Given the description of an element on the screen output the (x, y) to click on. 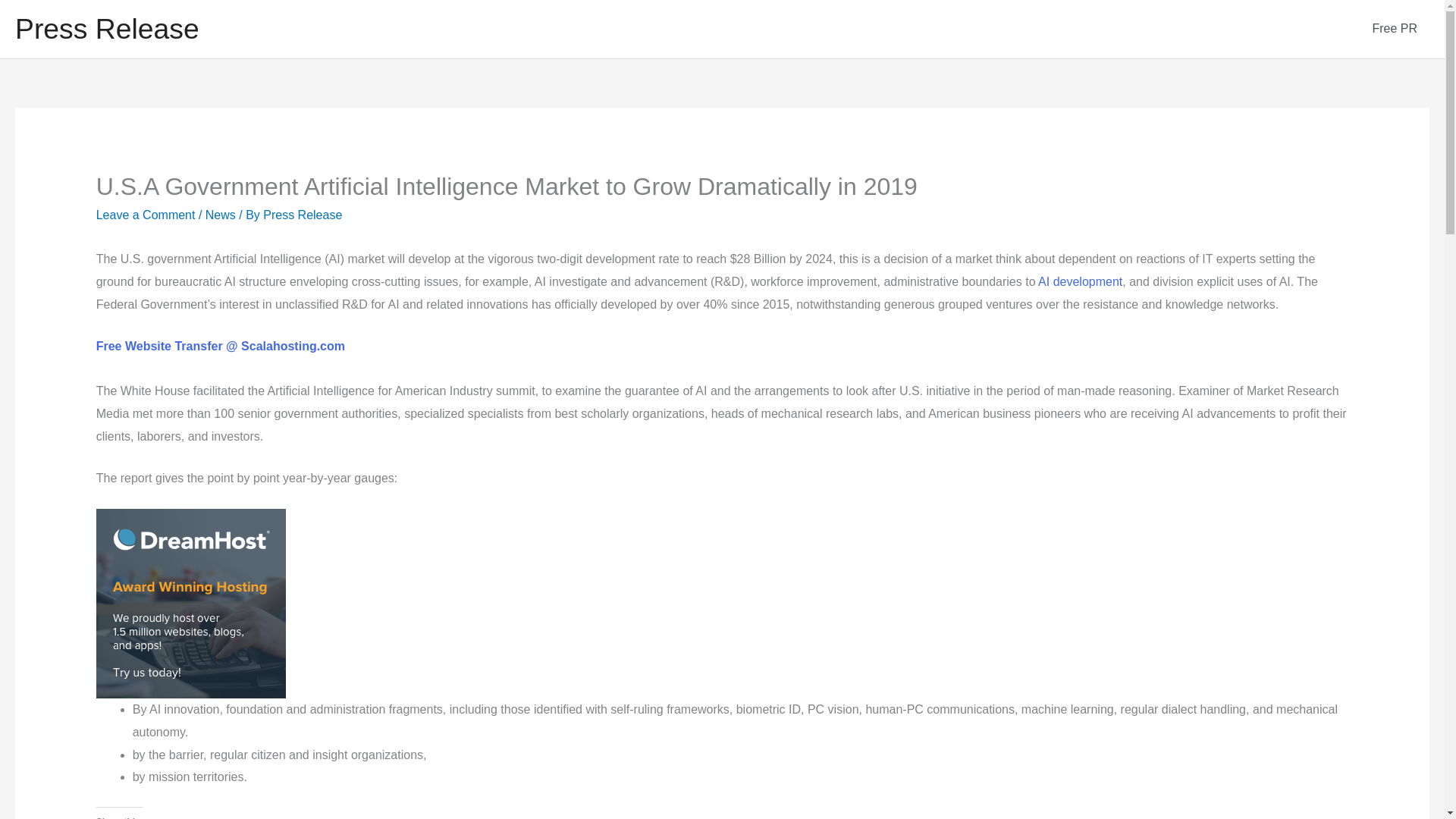
Free PR (1394, 29)
Leave a Comment (145, 214)
Press Release (302, 214)
AI development (1080, 281)
News (220, 214)
View all posts by Press Release (302, 214)
Press Release (106, 29)
